Given the description of an element on the screen output the (x, y) to click on. 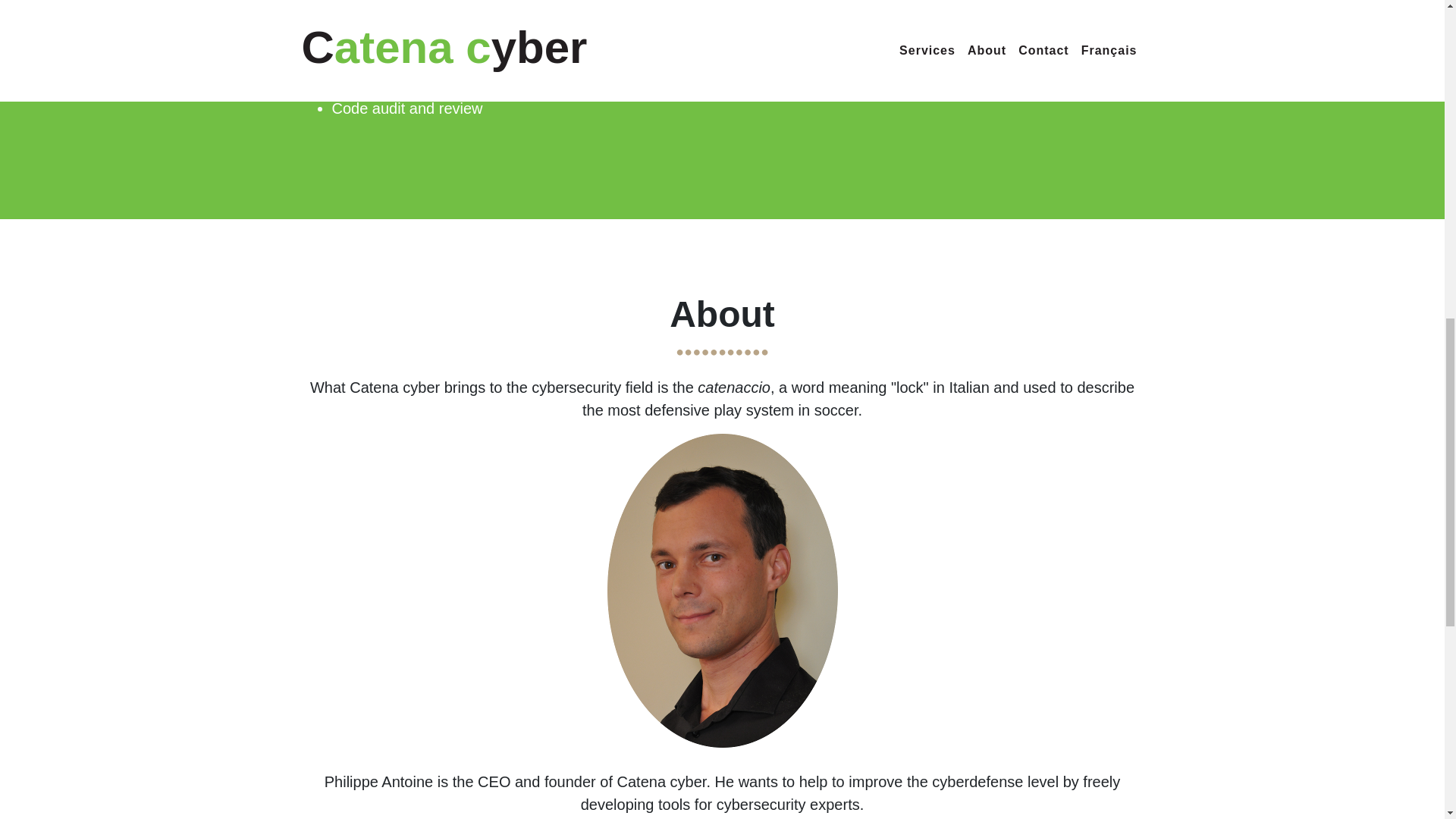
WFP (709, 39)
DynamoRIO (789, 85)
Bro (536, 62)
Capstone (872, 85)
Suricata (583, 62)
